Given the description of an element on the screen output the (x, y) to click on. 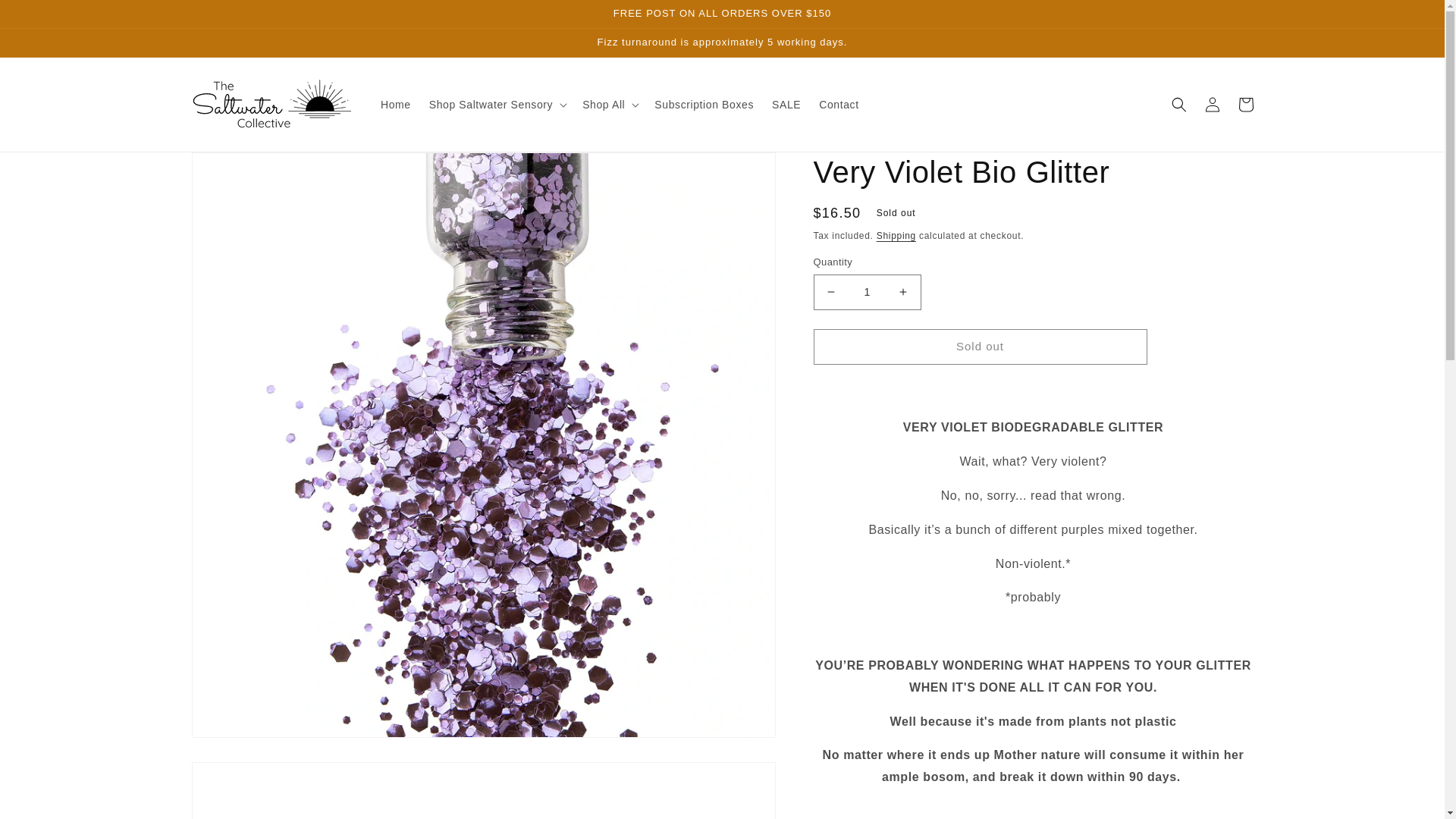
1 (866, 292)
Skip to content (45, 17)
